Given the description of an element on the screen output the (x, y) to click on. 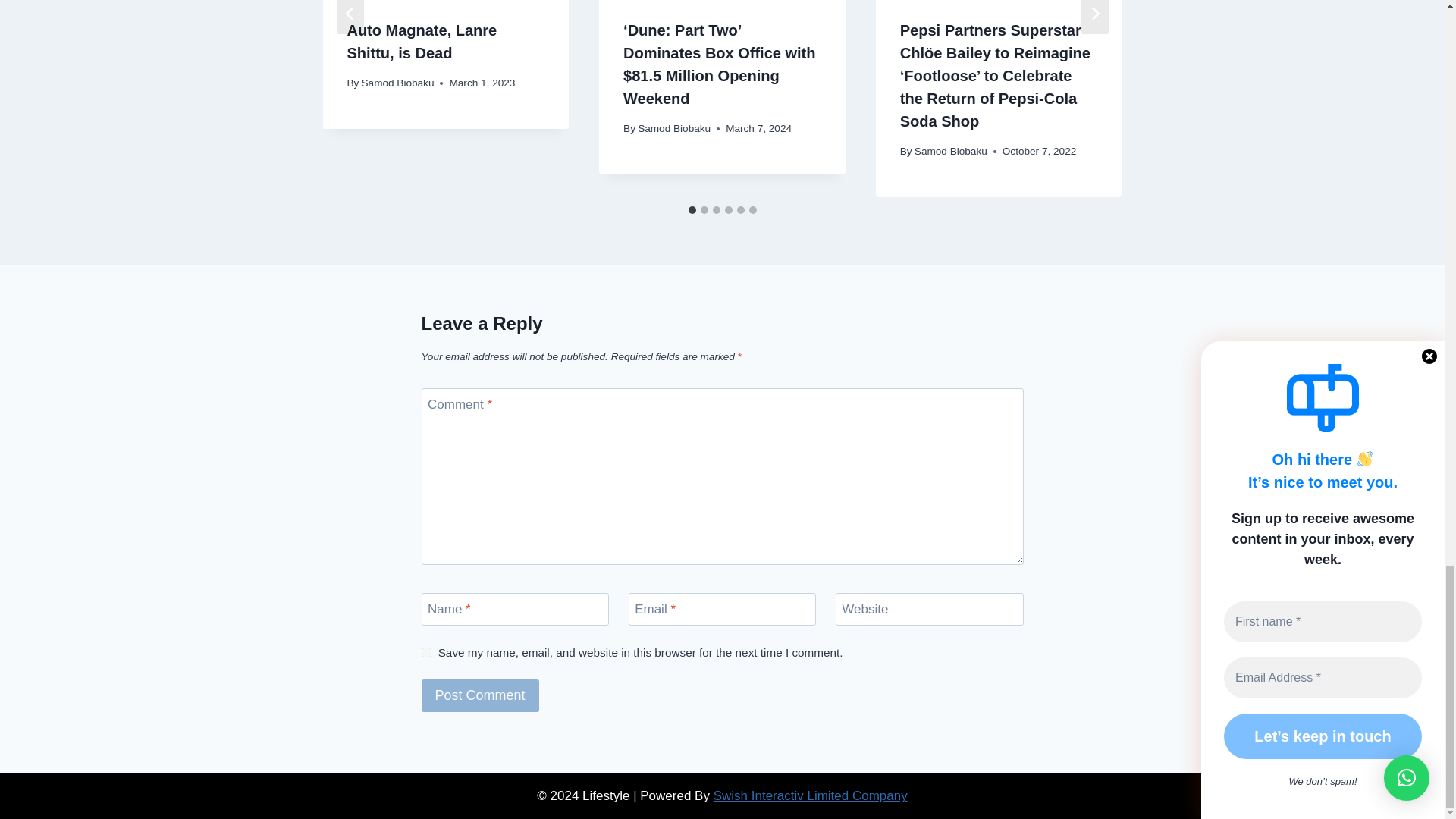
Post Comment (480, 695)
yes (426, 652)
